Given the description of an element on the screen output the (x, y) to click on. 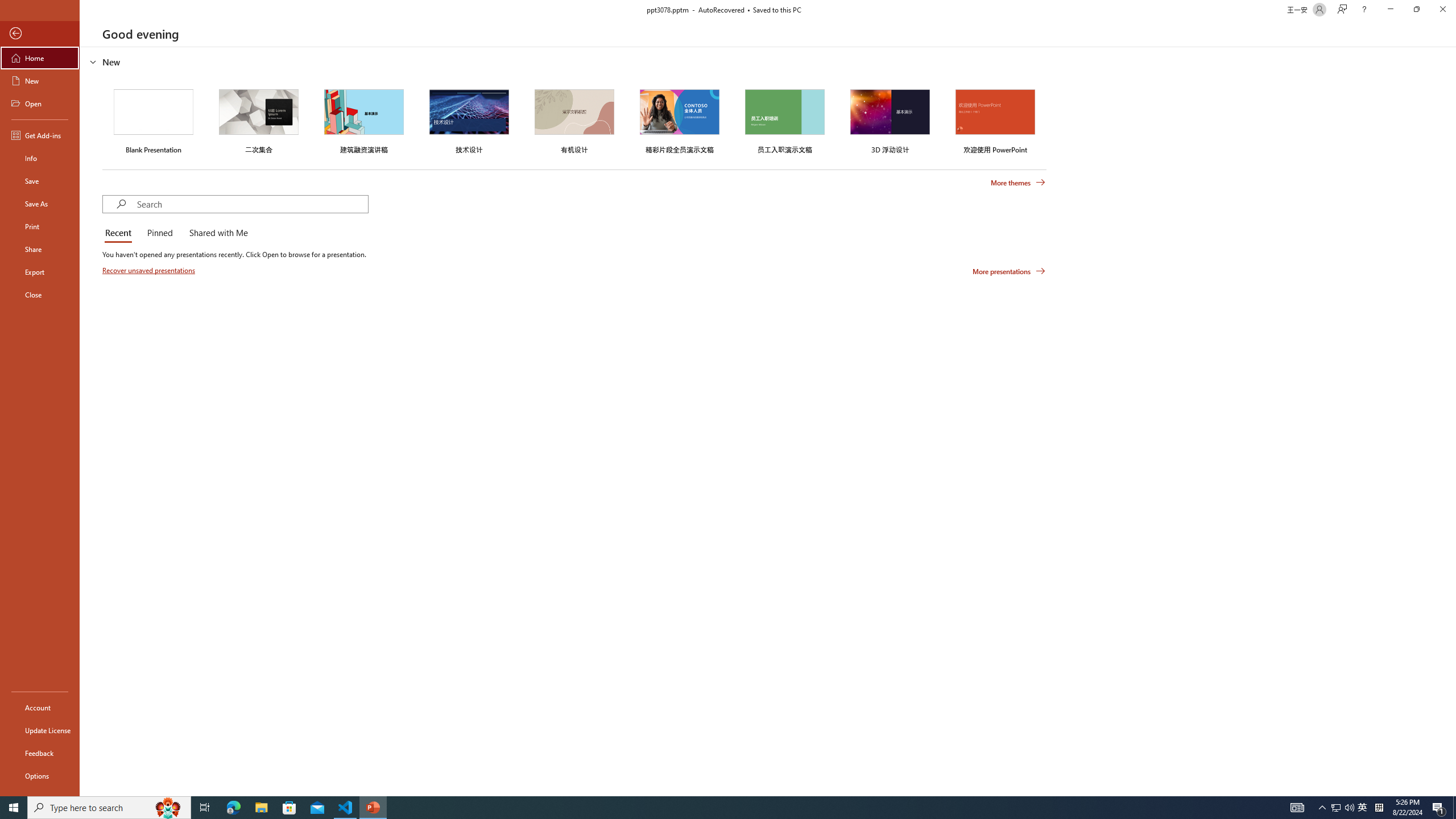
Accounts - Sign in requested (76, 690)
Views and More Actions... (251, 182)
Toggle Panel (Ctrl+J) (989, 150)
Toggle Secondary Side Bar (Ctrl+Alt+B) (1015, 150)
